Given the description of an element on the screen output the (x, y) to click on. 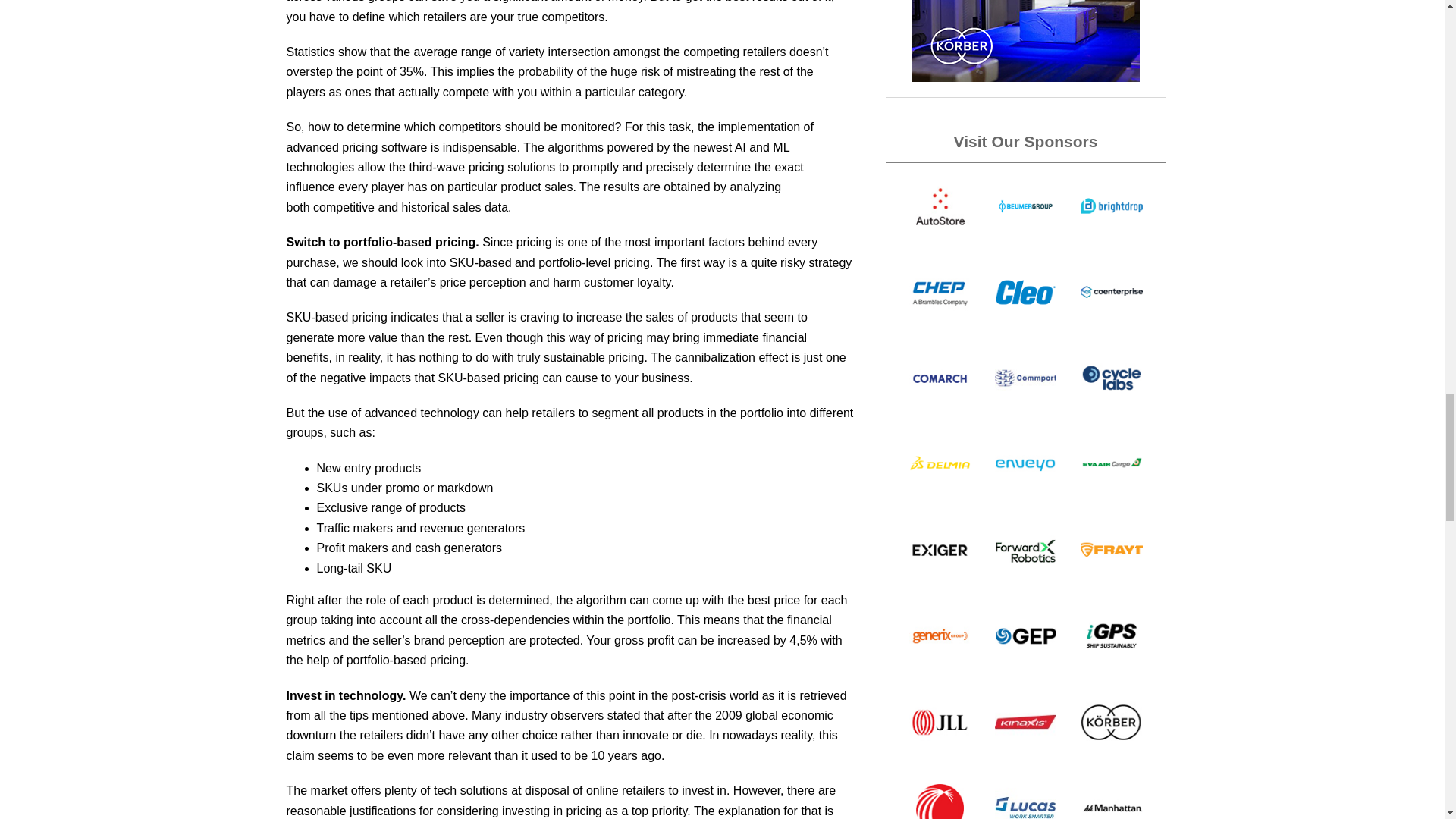
Cleo (1025, 291)
Beumer Group (1025, 205)
CHEP (938, 291)
Brightdrop (1110, 205)
Korber-AI-300x250-2.jpg (1024, 40)
Coenterprise (1110, 291)
AutoStore (938, 205)
